Given the description of an element on the screen output the (x, y) to click on. 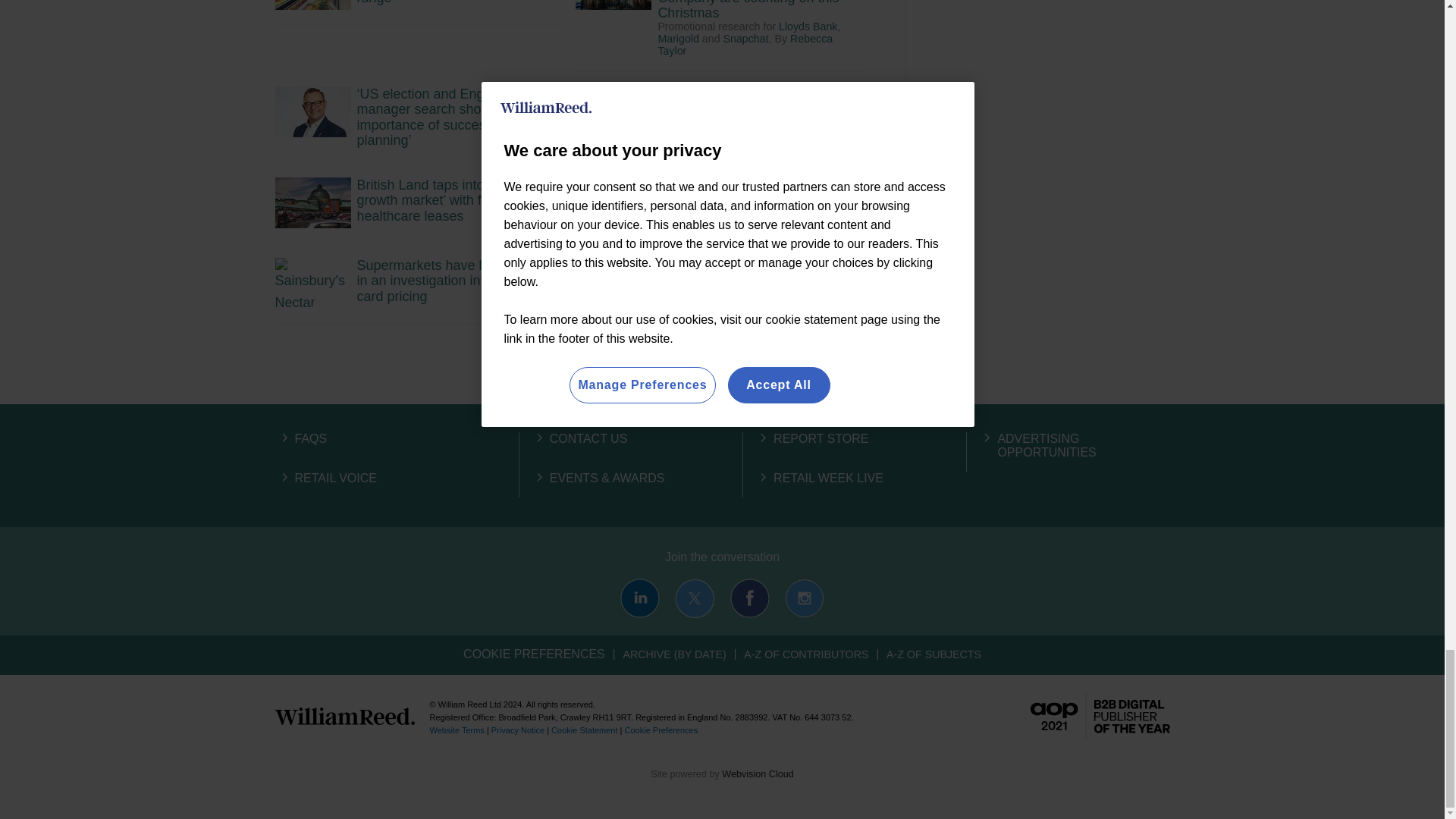
Connect with us on Instagram (804, 598)
Connect with us on X (694, 598)
Connect with us on LinkedIn (639, 598)
Connect with us on Facebook (750, 598)
